Given the description of an element on the screen output the (x, y) to click on. 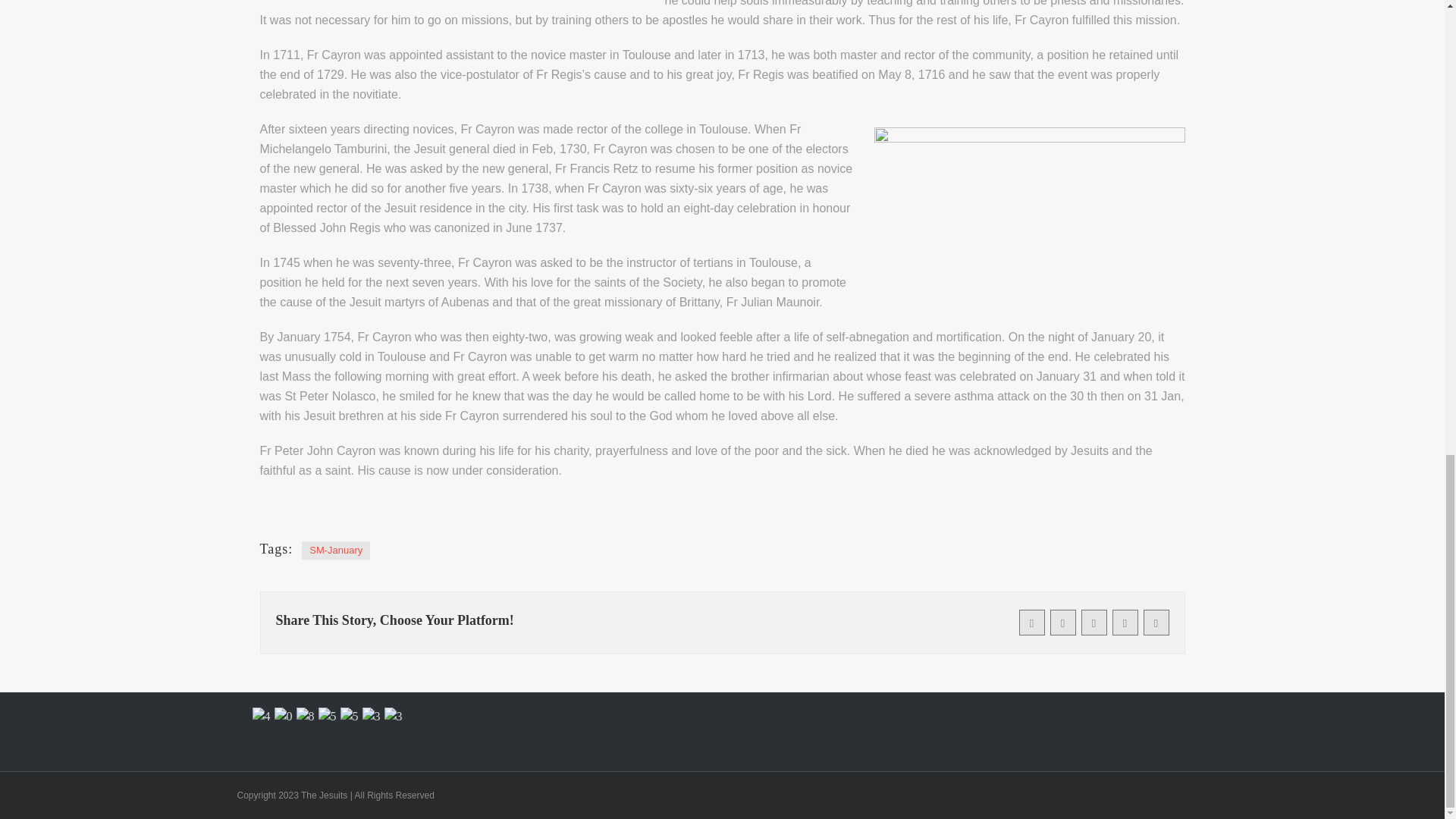
SM-January (335, 550)
